Given the description of an element on the screen output the (x, y) to click on. 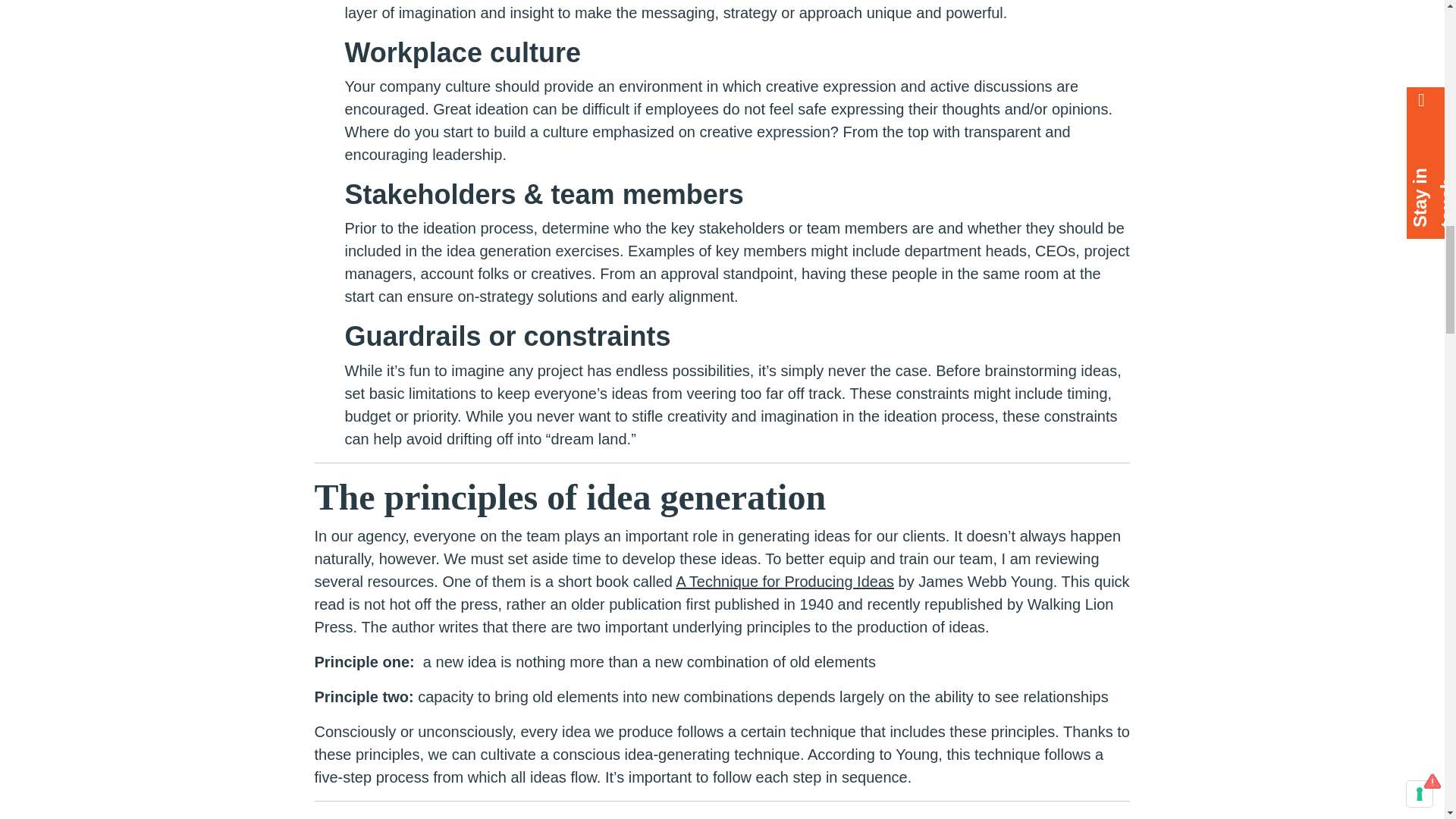
A Technique for Producing Ideas (784, 581)
